Given the description of an element on the screen output the (x, y) to click on. 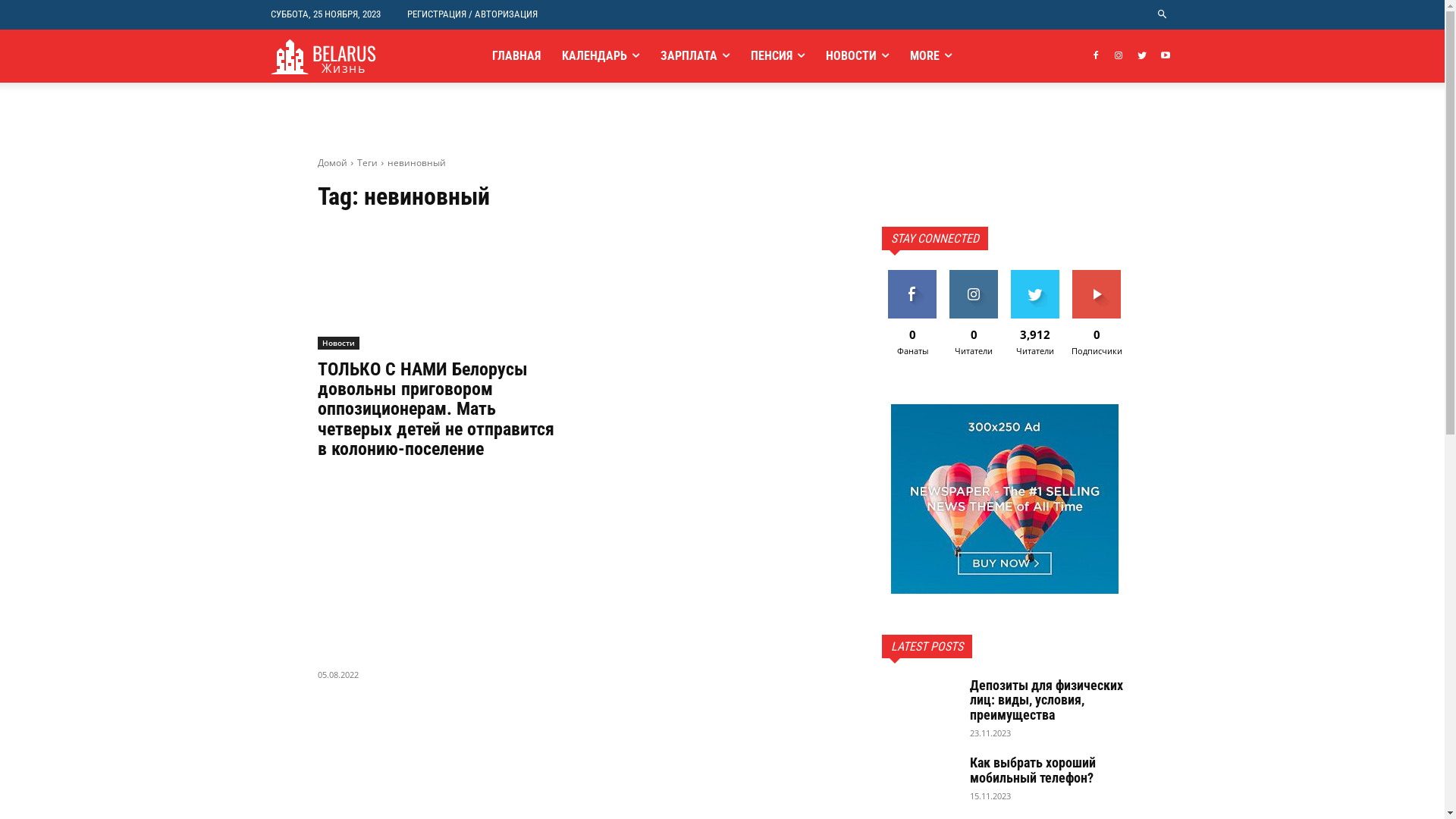
Instagram Element type: hover (1118, 56)
Facebook Element type: hover (1095, 56)
Advertisement Element type: hover (439, 566)
Twitter Element type: hover (1142, 56)
Youtube Element type: hover (1165, 56)
